Given the description of an element on the screen output the (x, y) to click on. 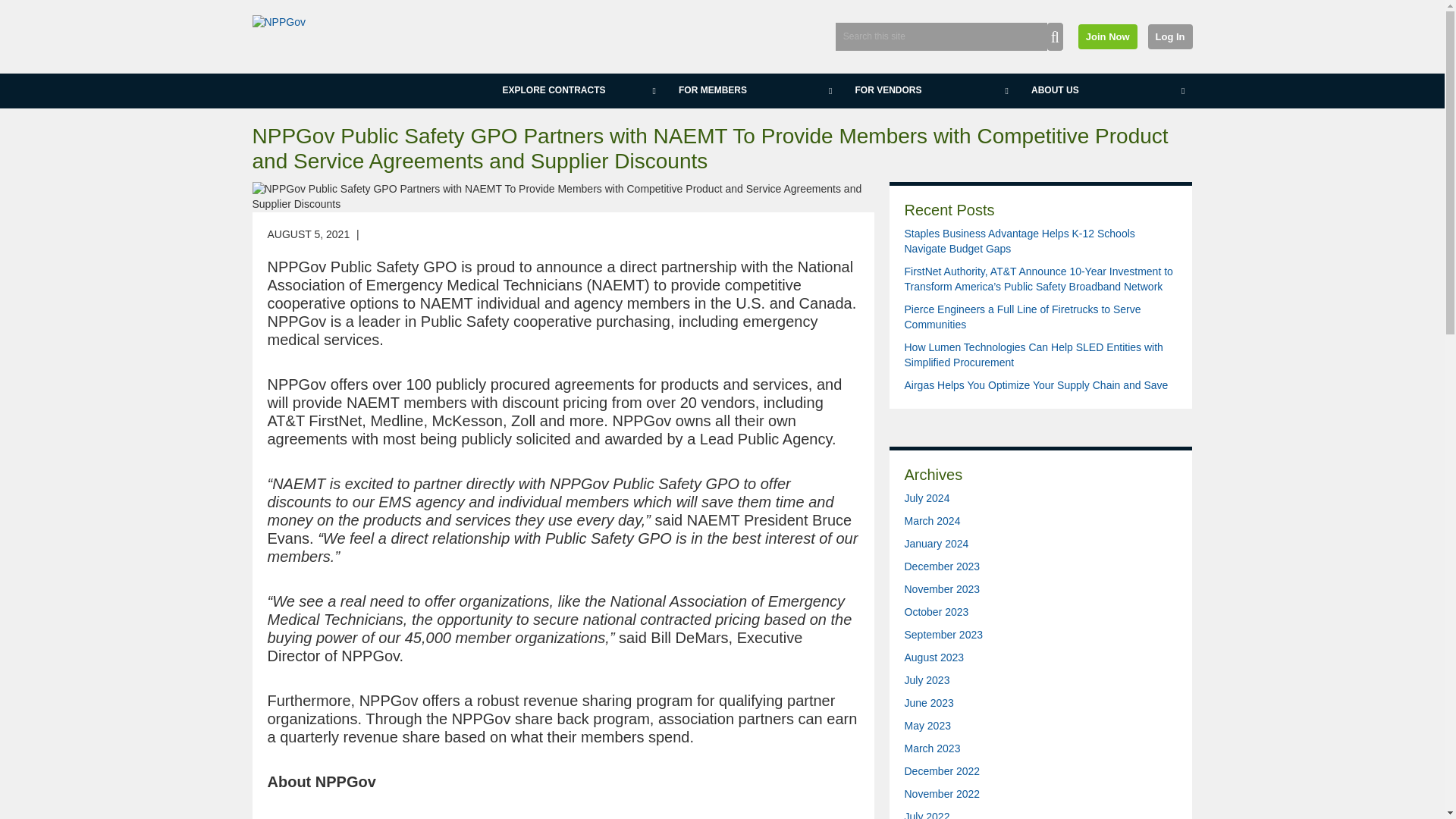
Join Now (1107, 36)
ABOUT US (1104, 90)
FOR MEMBERS (751, 90)
EXPLORE CONTRACTS (574, 90)
FOR VENDORS (928, 90)
Search this site: (940, 36)
Log In (1170, 36)
